Given the description of an element on the screen output the (x, y) to click on. 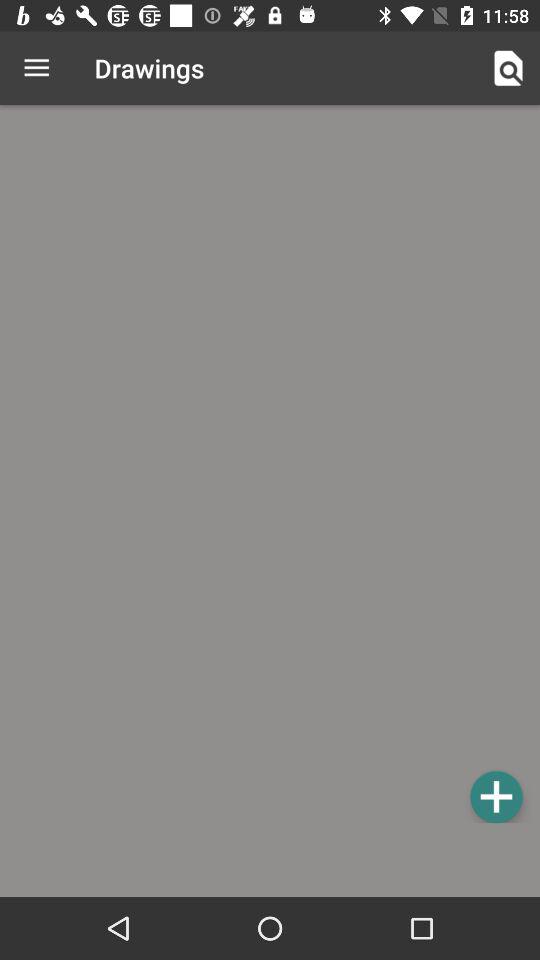
select the icon to the left of drawings icon (36, 68)
